Given the description of an element on the screen output the (x, y) to click on. 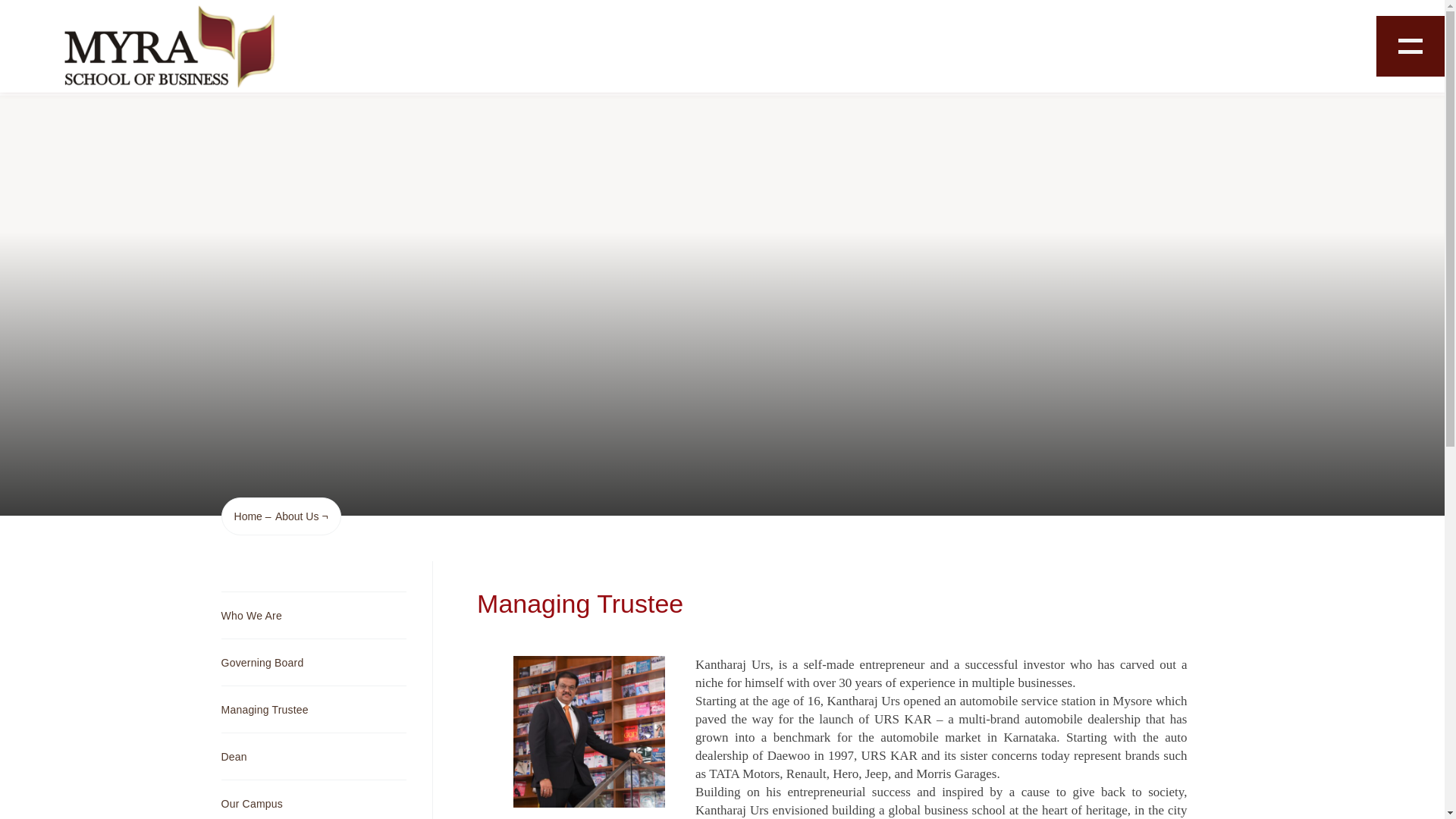
Governing Board (313, 662)
Dean (313, 756)
Who We Are (313, 615)
Managing Trustee (313, 709)
About Us (296, 515)
Our Campus (313, 799)
